Given the description of an element on the screen output the (x, y) to click on. 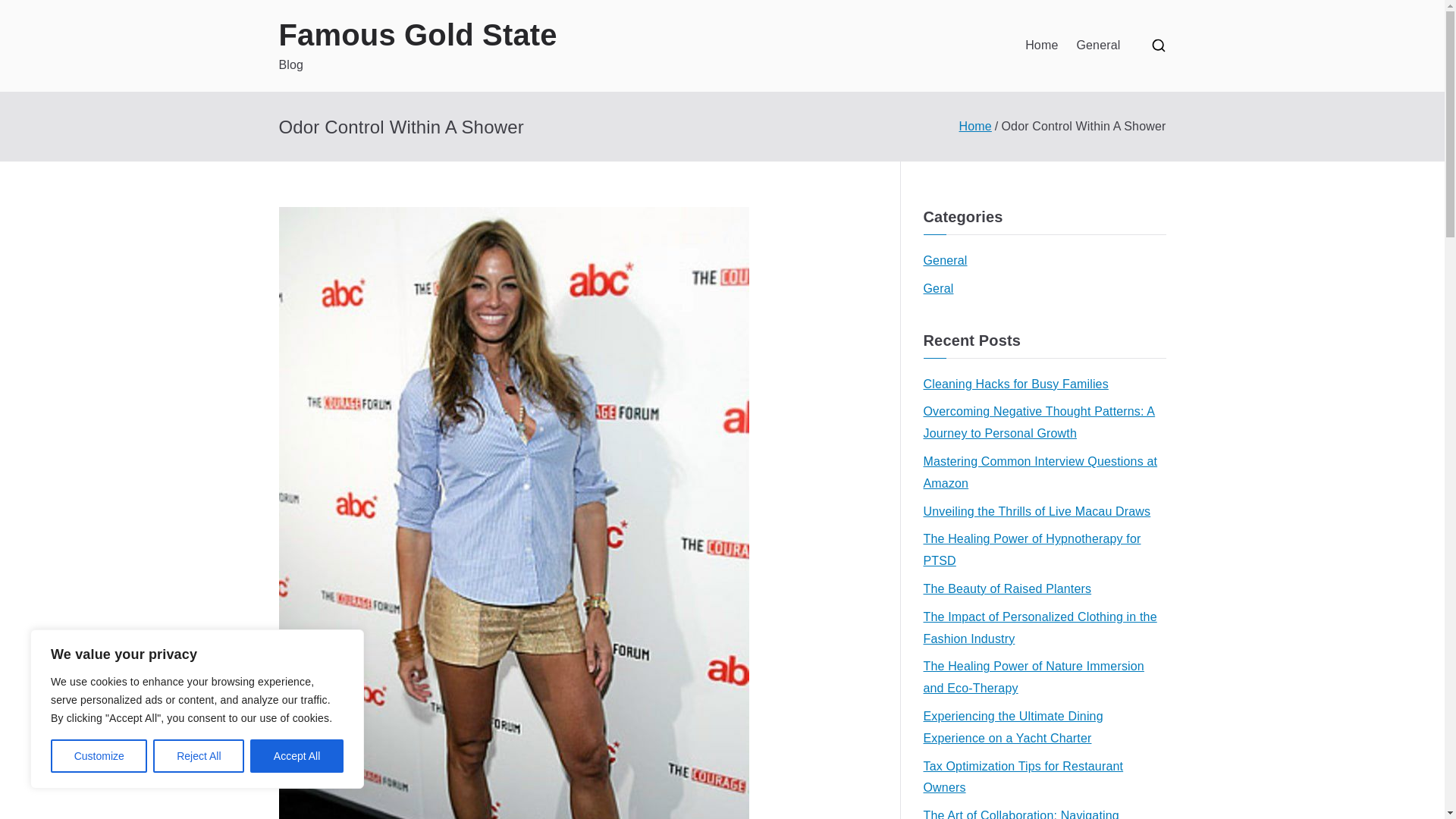
General (945, 260)
Home (1041, 45)
Home (975, 125)
General (1097, 45)
Customize (98, 756)
Cleaning Hacks for Busy Families (1015, 384)
Accept All (296, 756)
Famous Gold State (418, 34)
Geral (938, 289)
Reject All (198, 756)
